Given the description of an element on the screen output the (x, y) to click on. 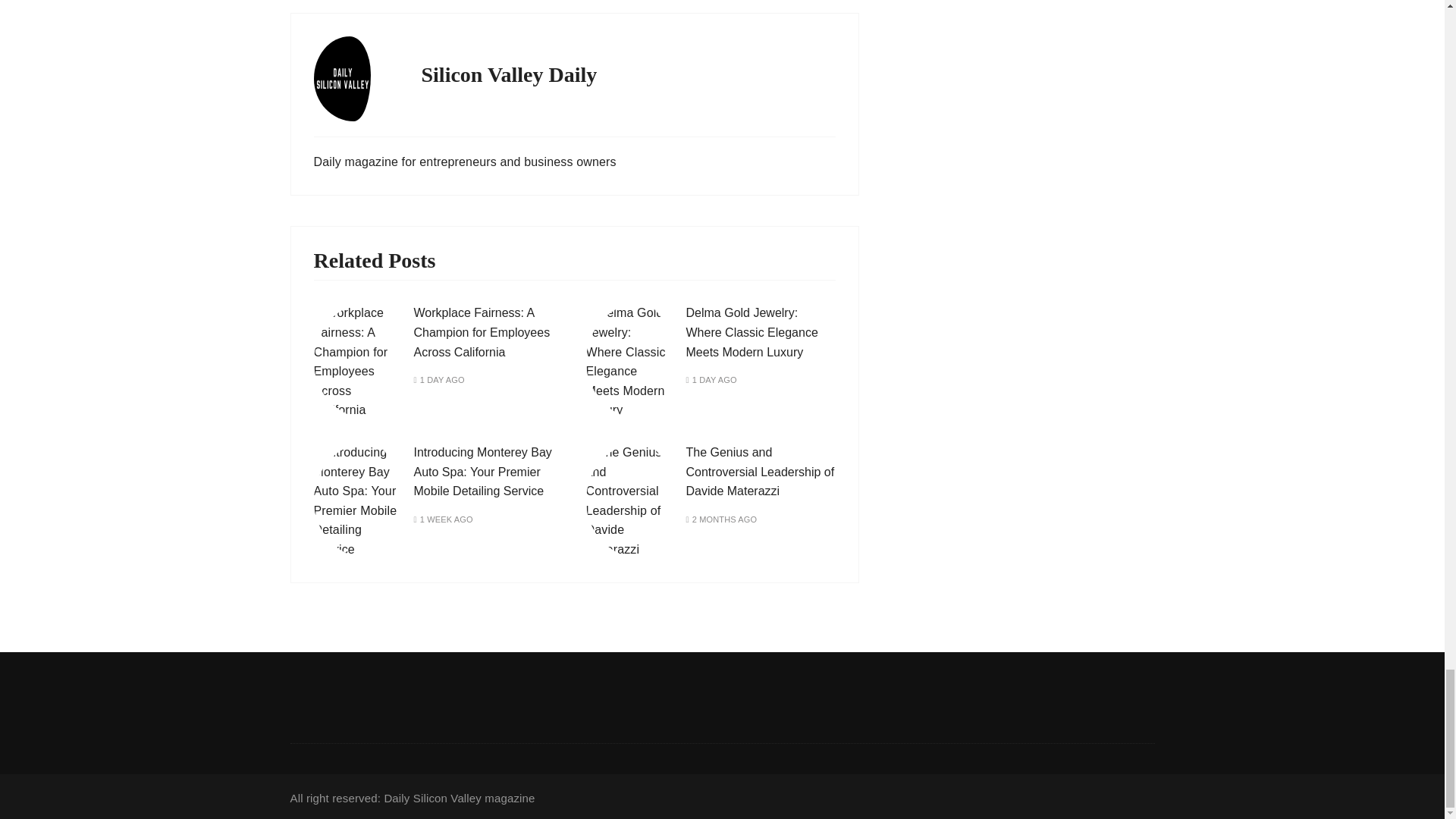
The Genius and Controversial Leadership of Davide Materazzi (759, 471)
